Given the description of an element on the screen output the (x, y) to click on. 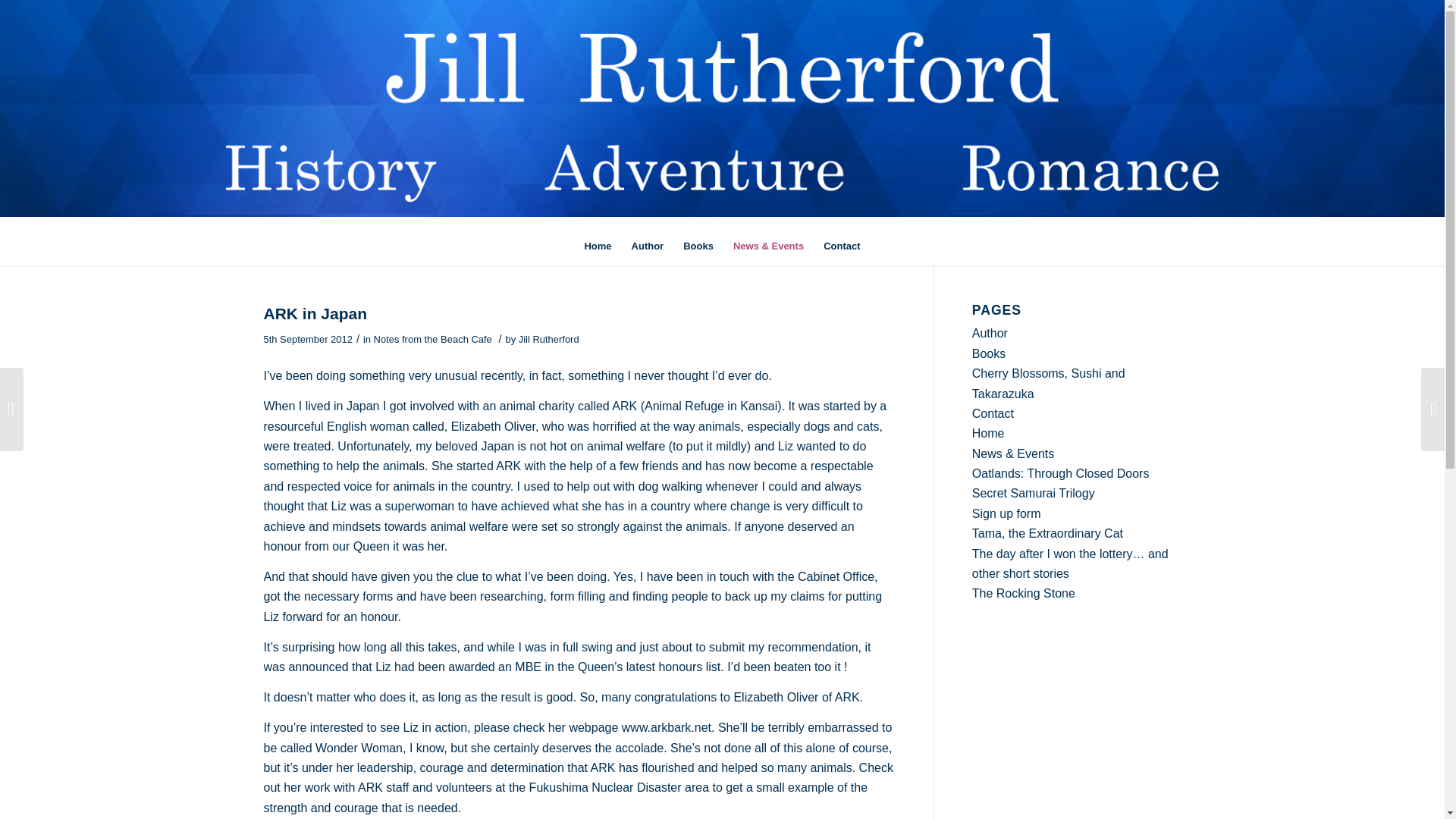
Cherry Blossoms, Sushi and Takarazuka (1048, 382)
Home (988, 432)
Jill Rutherford (548, 338)
Notes from the Beach Cafe (433, 338)
Oatlands: Through Closed Doors (1061, 472)
Contact (841, 246)
Author (647, 246)
Books (697, 246)
Author (989, 332)
Home (597, 246)
Tama, the Extraordinary Cat (1047, 533)
ARK in Japan (315, 313)
The Rocking Stone (1023, 593)
Sign up form (1006, 513)
Books (989, 353)
